Given the description of an element on the screen output the (x, y) to click on. 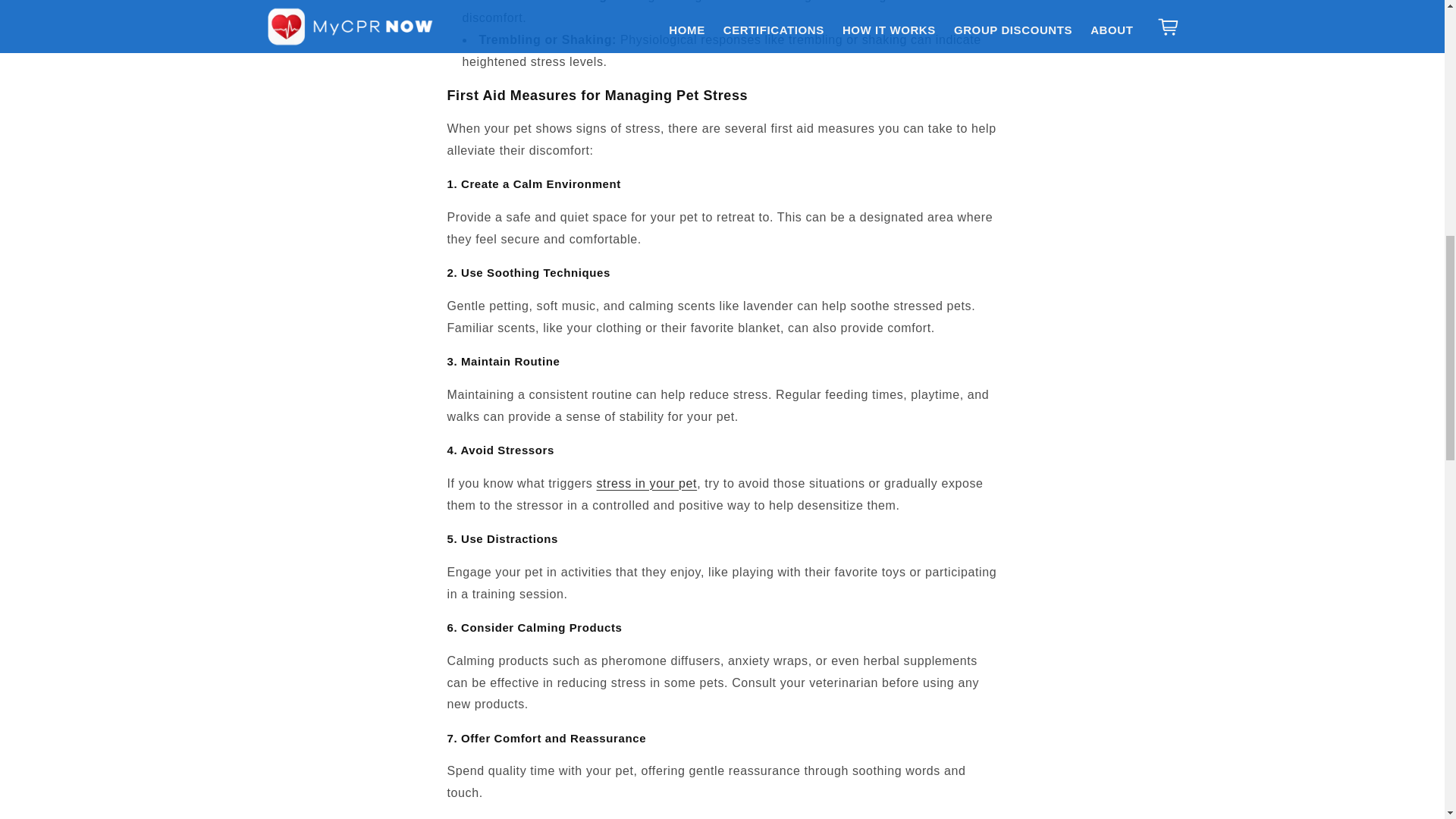
stress in your pet (646, 482)
